Given the description of an element on the screen output the (x, y) to click on. 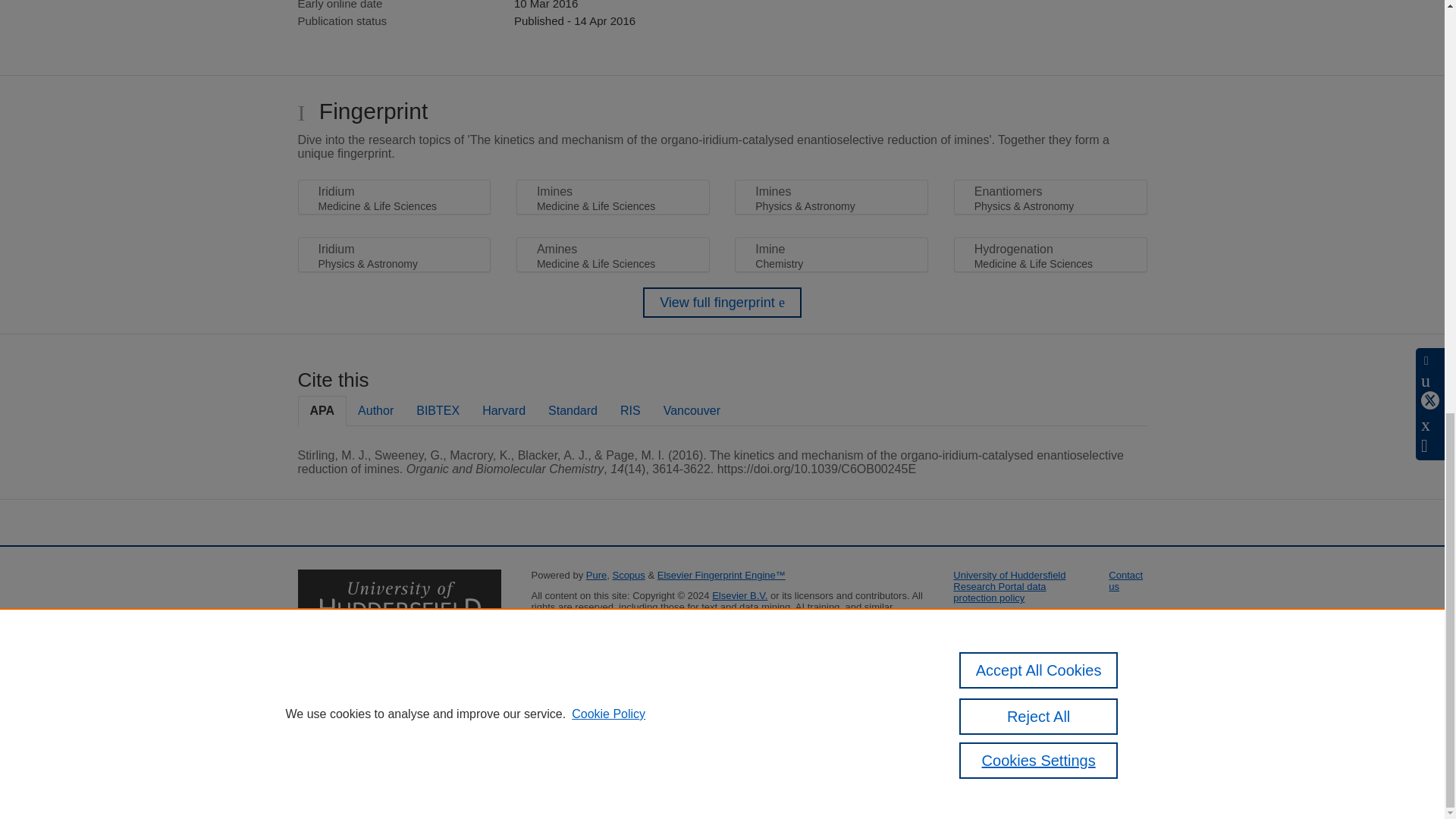
View full fingerprint (722, 302)
Pure (596, 574)
Scopus (628, 574)
